Given the description of an element on the screen output the (x, y) to click on. 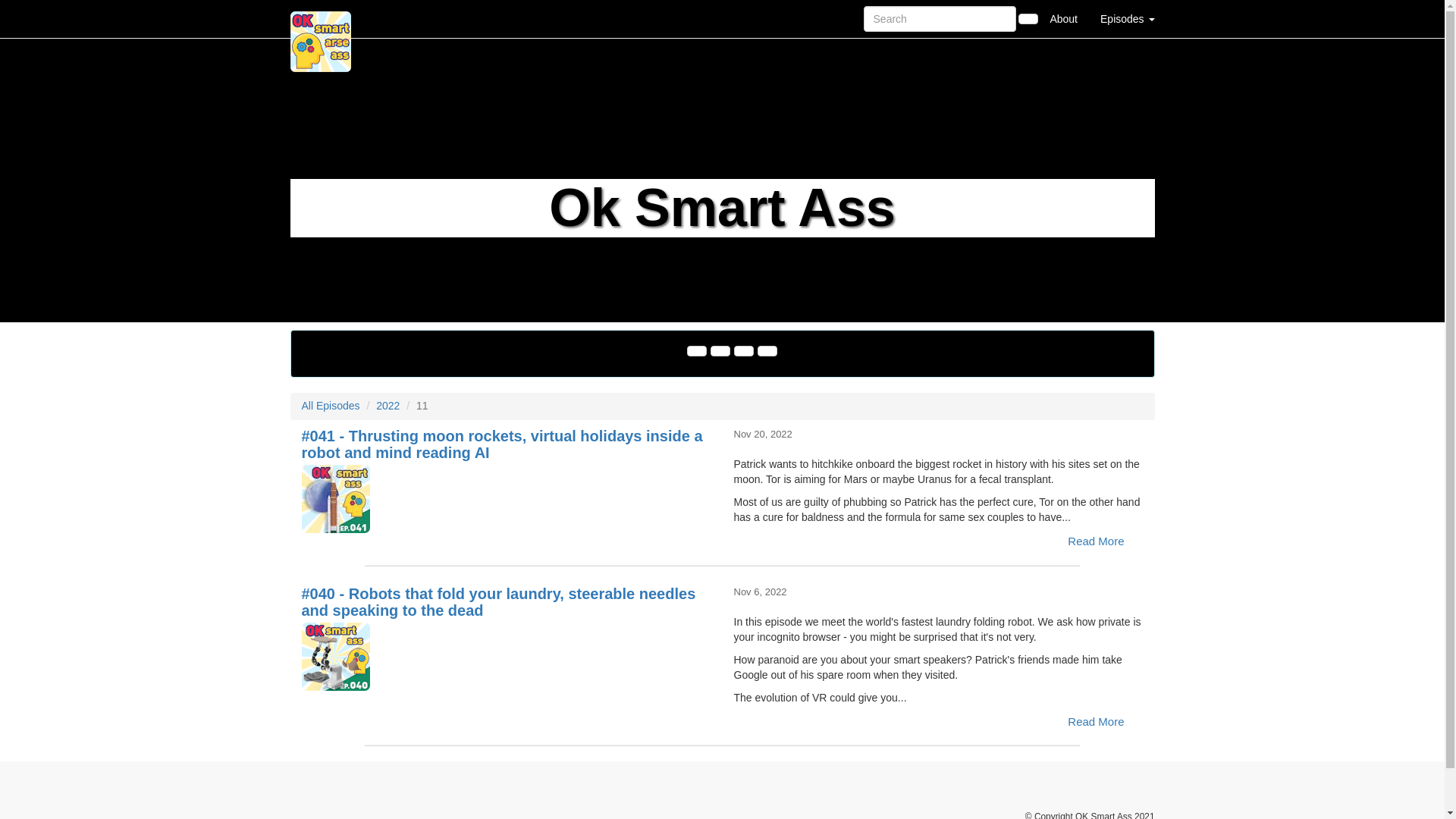
Home Page (320, 18)
About (1063, 18)
Episodes (1127, 18)
